Given the description of an element on the screen output the (x, y) to click on. 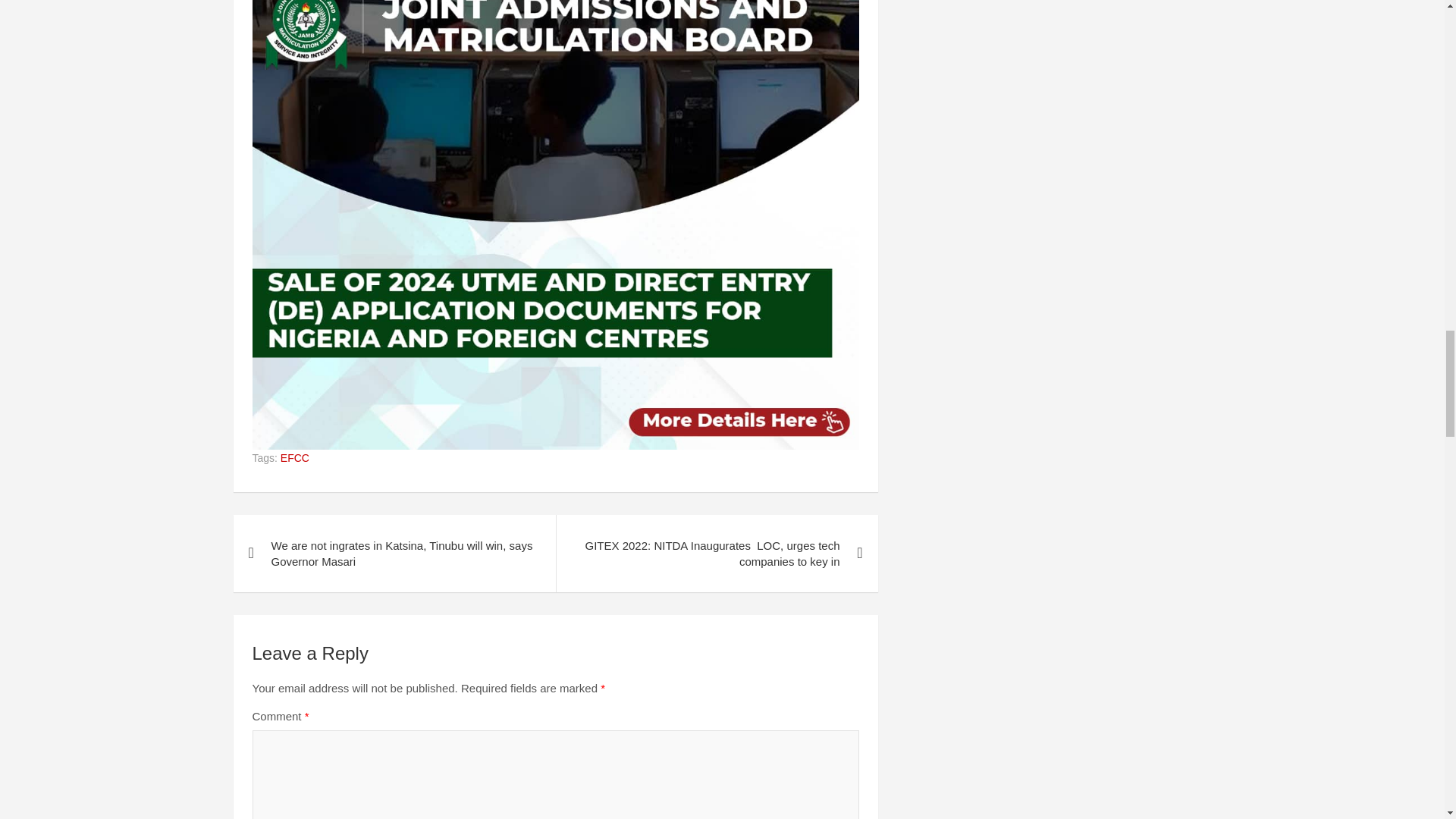
EFCC (294, 458)
